Given the description of an element on the screen output the (x, y) to click on. 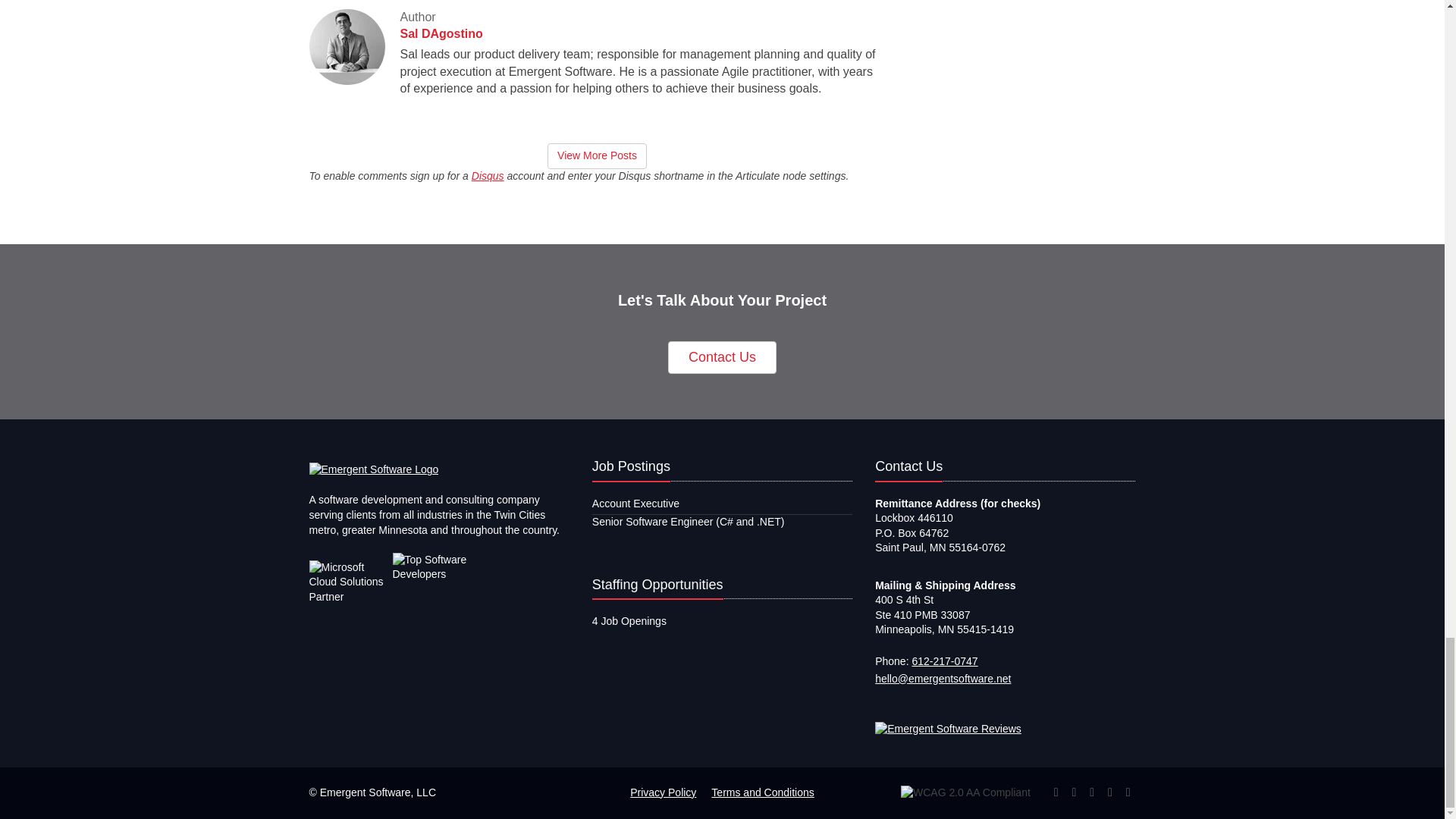
View More Posts (596, 155)
Sal DAgostino (441, 33)
Disqus (487, 175)
